Given the description of an element on the screen output the (x, y) to click on. 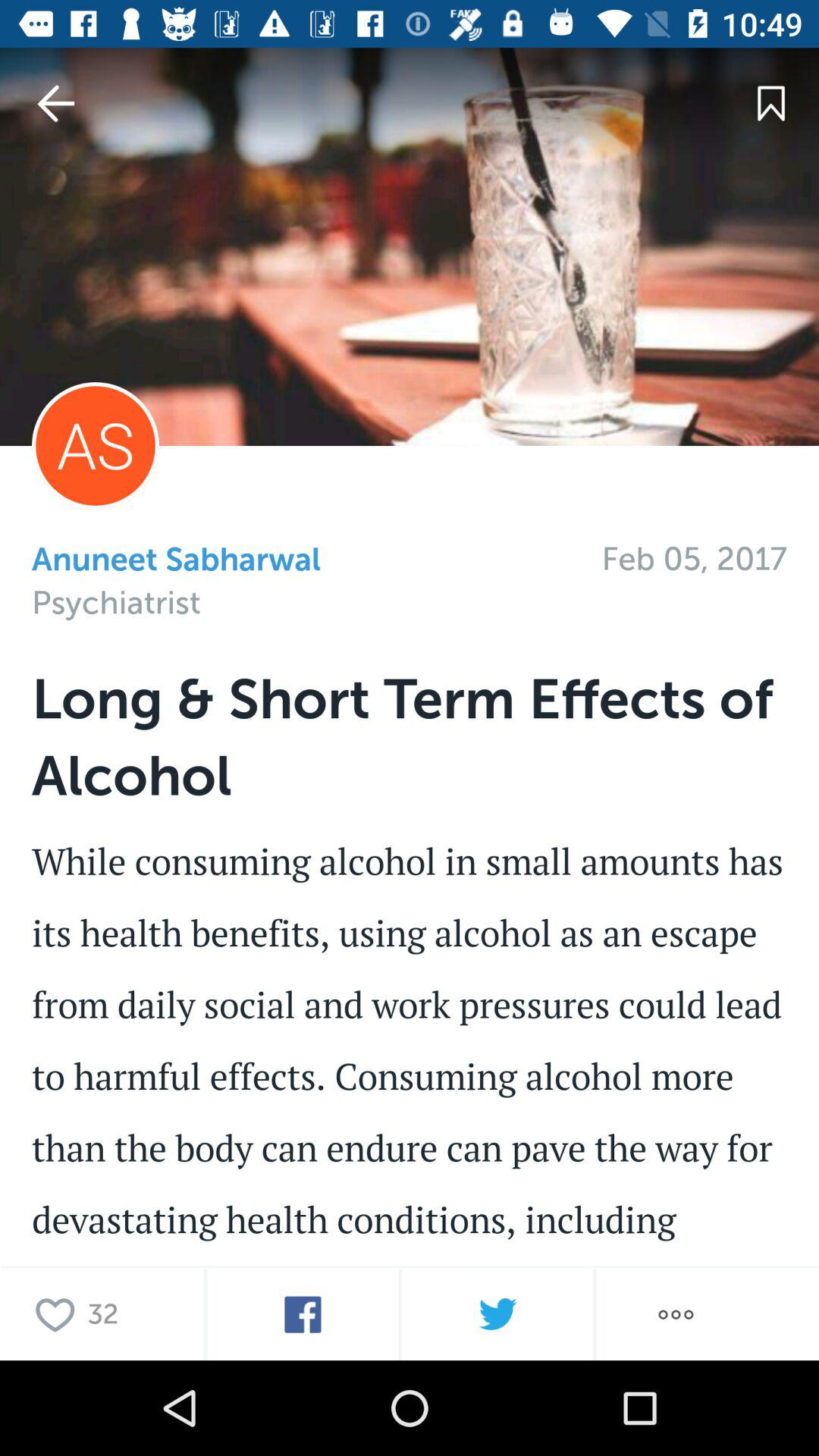
more options button (675, 1314)
